Given the description of an element on the screen output the (x, y) to click on. 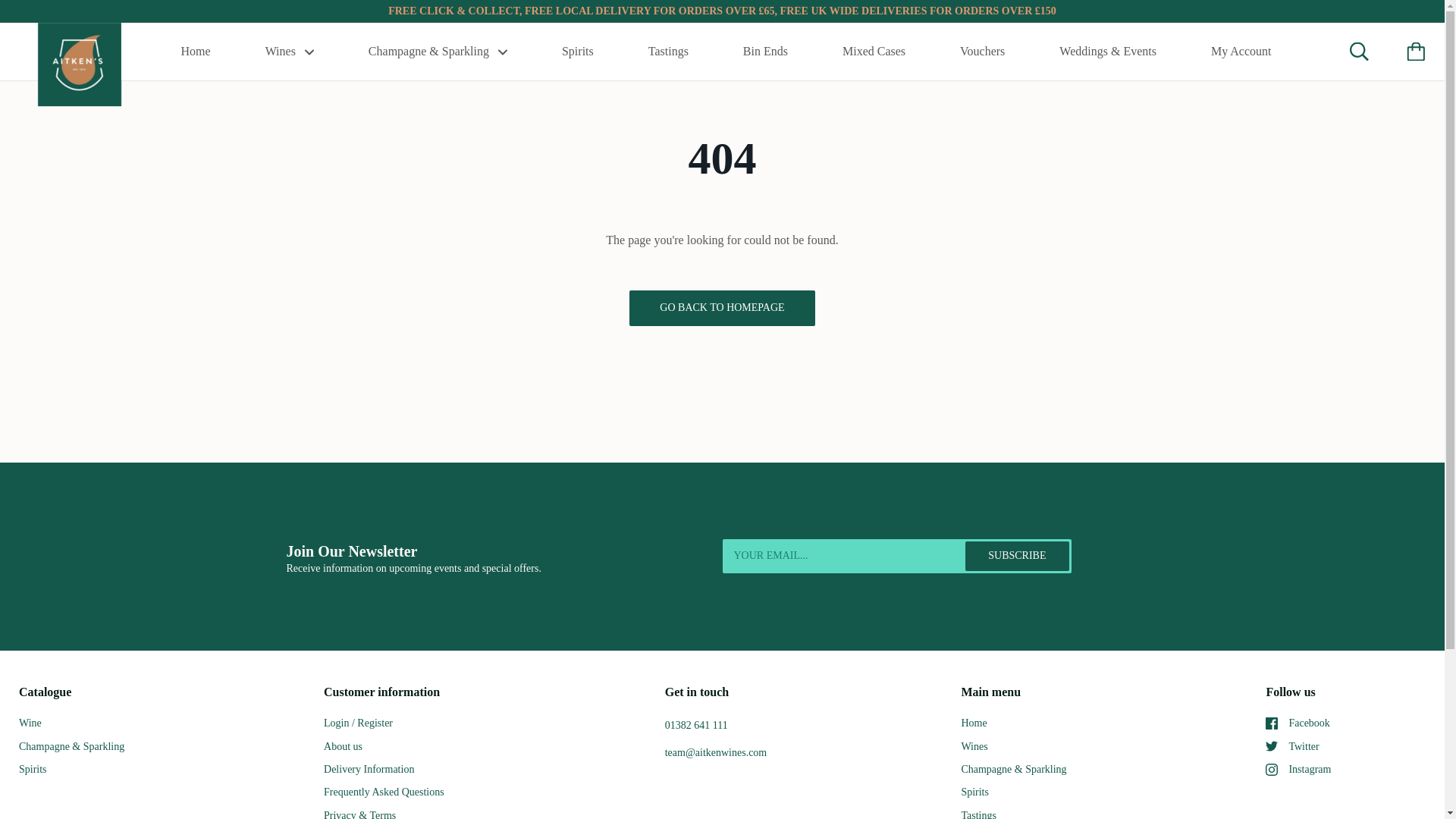
Home (195, 51)
Wines (289, 51)
Facebook (1271, 723)
Subscribe (1016, 555)
Twitter (1271, 746)
Instagram (1271, 769)
